Given the description of an element on the screen output the (x, y) to click on. 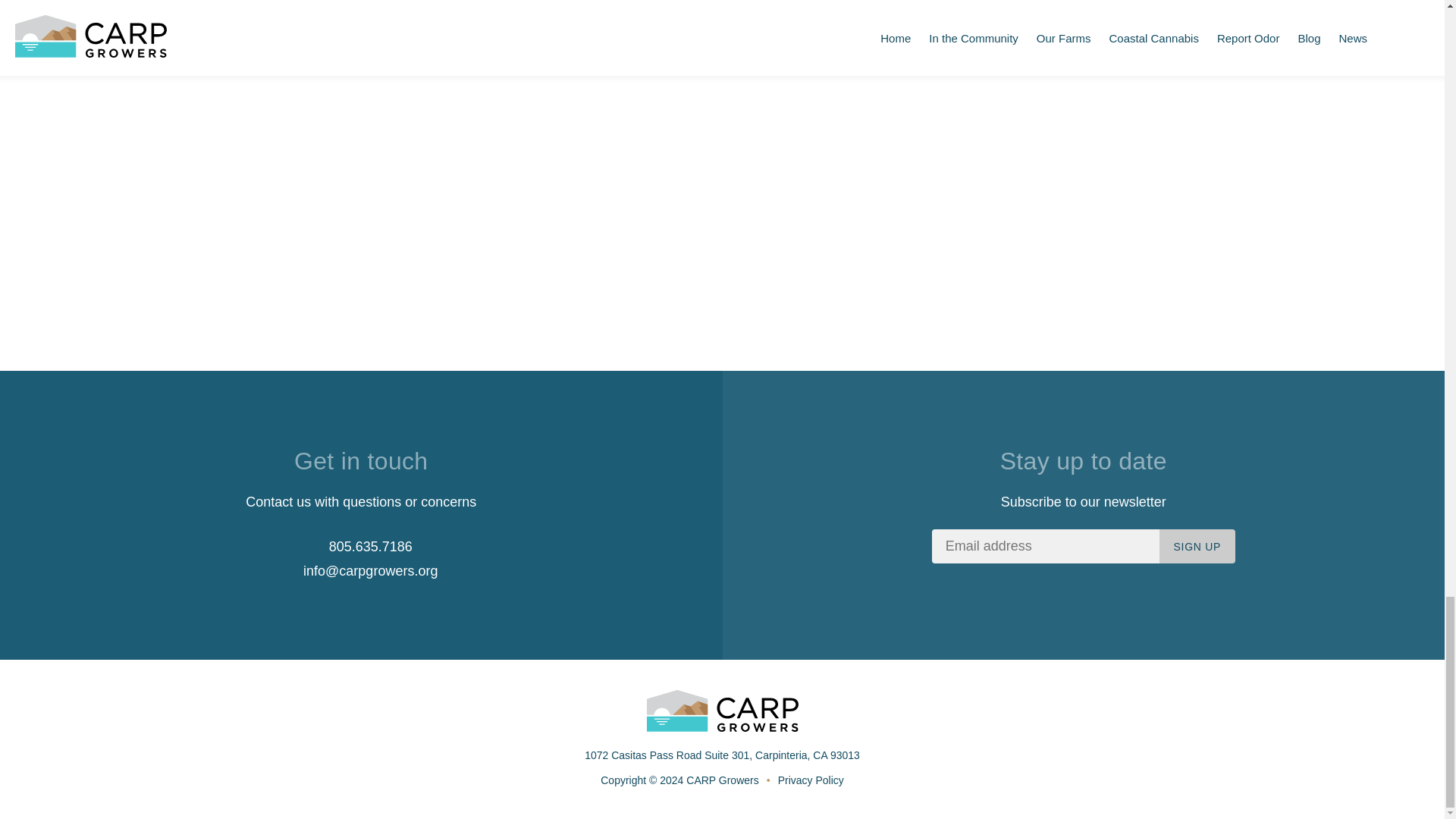
805.635.7186 (361, 546)
Sign up (1196, 546)
1072 Casitas Pass Road Suite 301, Carpinteria, CA 93013 (722, 755)
Sign up (1196, 546)
Privacy Policy (810, 779)
